Given the description of an element on the screen output the (x, y) to click on. 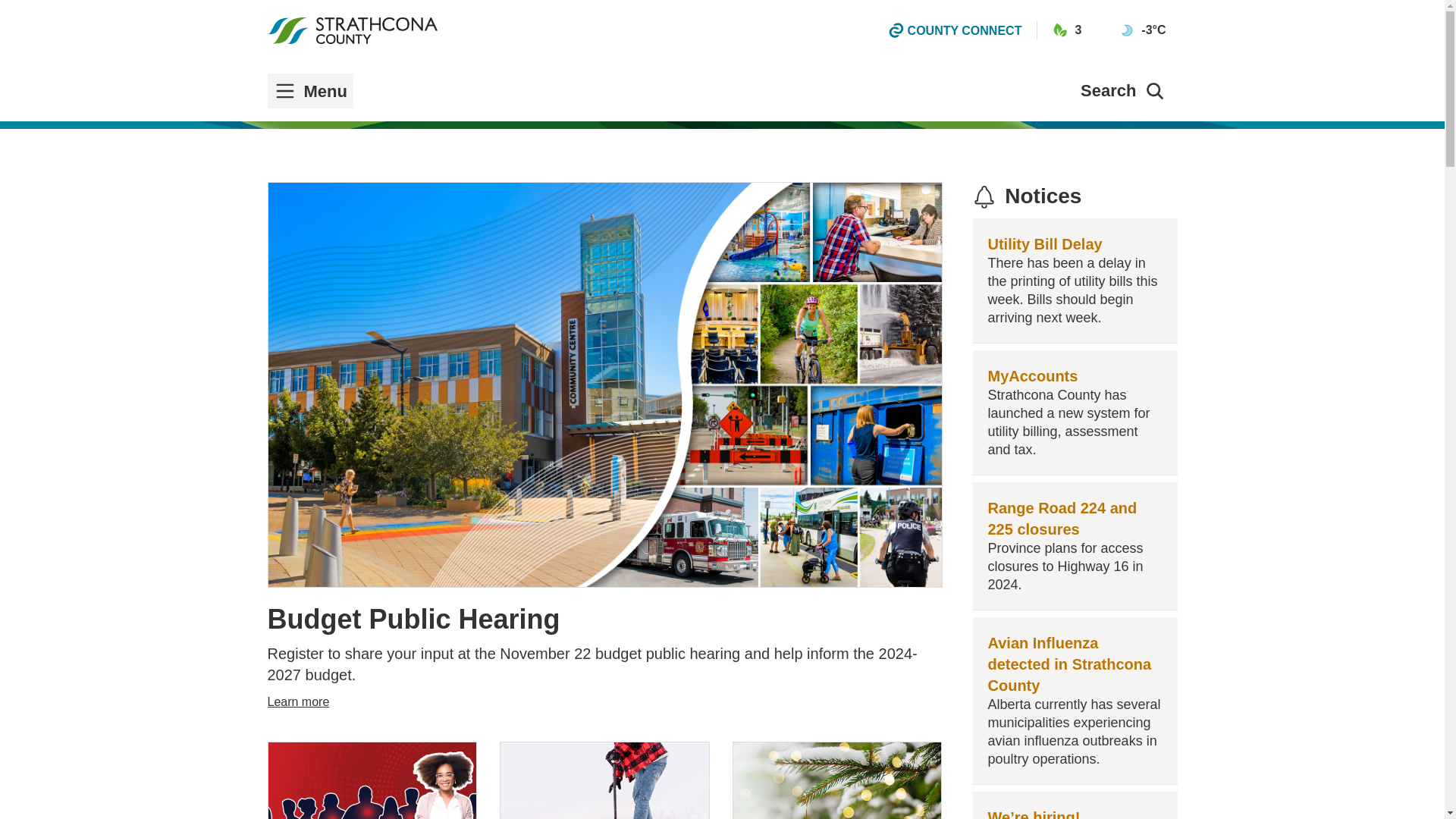
3 Element type: text (1066, 30)
Search Element type: text (1122, 90)
Menu Element type: text (311, 91)
COUNTY CONNECT Element type: text (955, 29)
